Given the description of an element on the screen output the (x, y) to click on. 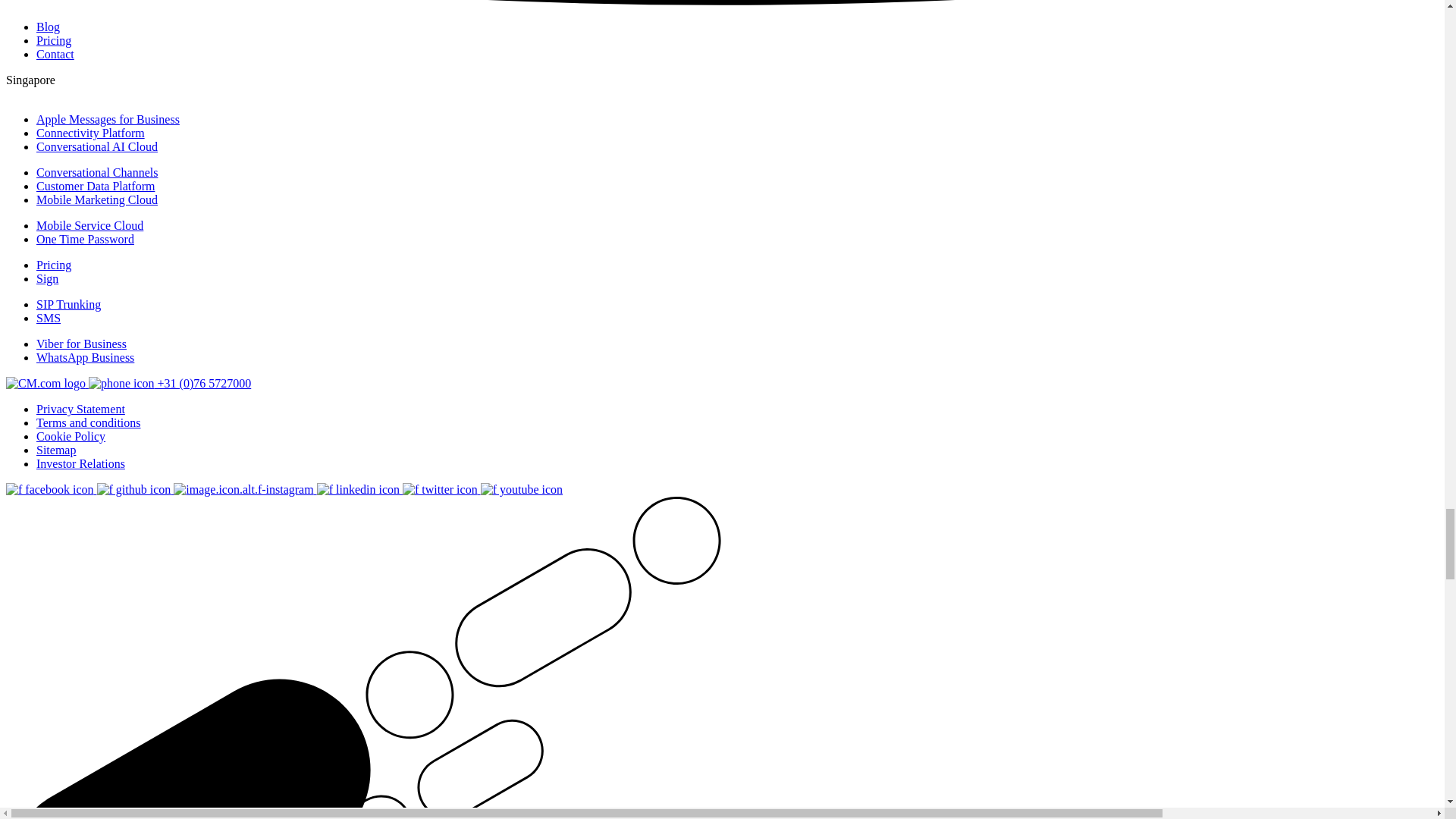
Follow us on LinkedIn for articles, cases and more (360, 489)
Follow us on Instagram (244, 489)
Follow us on Twitter for short CM.com updates (441, 489)
Follow us on GitHub for code examples, libraries and more (135, 489)
Follow us on Facebook for news and the latest updates (51, 489)
